Given the description of an element on the screen output the (x, y) to click on. 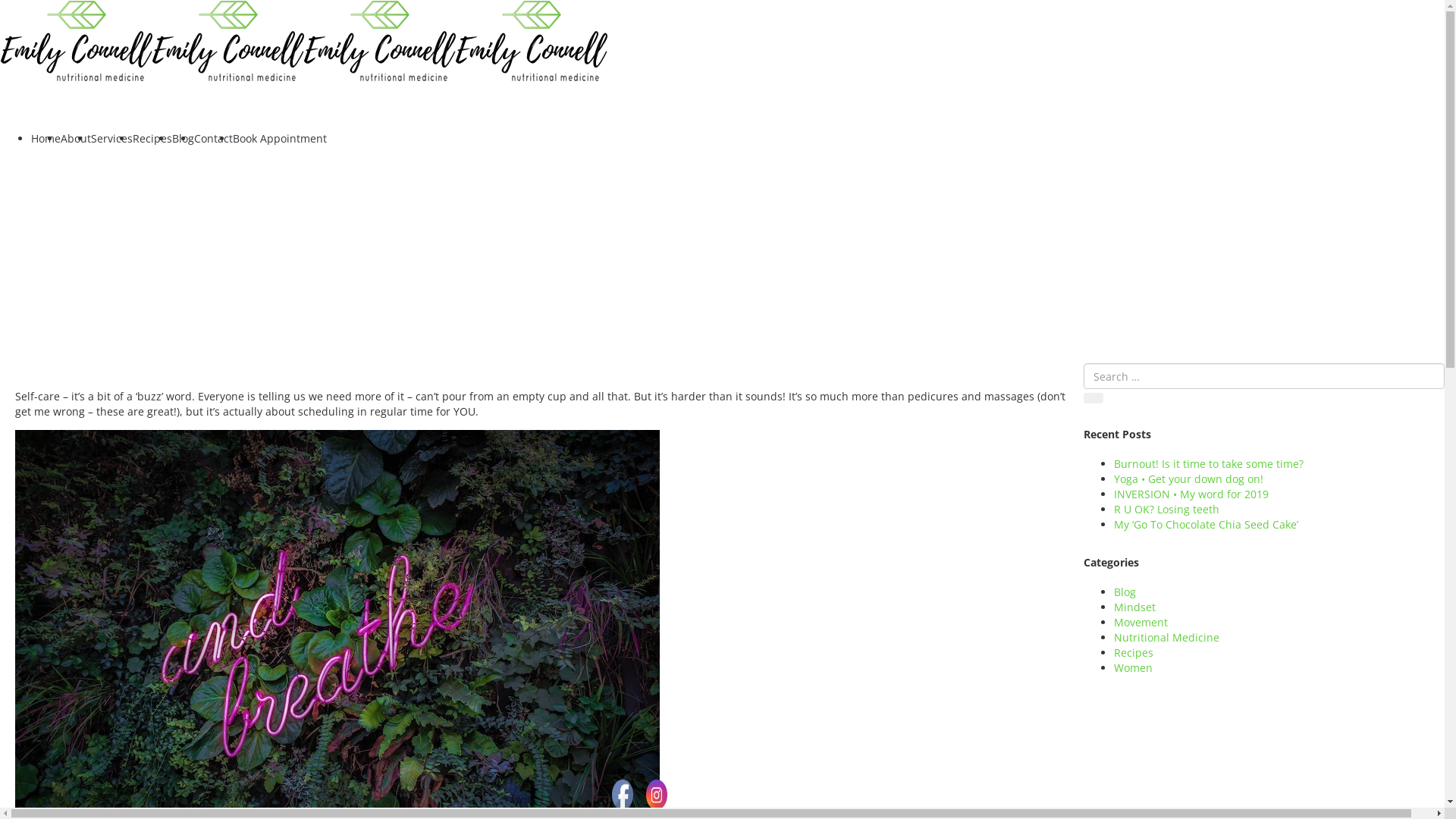
Burnout! Is it time to take some time? Element type: text (1208, 463)
Instagram Element type: hover (656, 794)
Women Element type: text (1132, 667)
Book Appointment Element type: text (279, 137)
Mindset Element type: text (1134, 606)
Blog Element type: text (183, 137)
Services Element type: text (111, 137)
R U OK? Losing teeth Element type: text (1166, 509)
Recipes Element type: text (152, 137)
Facebook Element type: hover (622, 794)
Nutritional Medicine Element type: text (1166, 637)
About Element type: text (75, 137)
Contact Element type: text (213, 137)
Blog Element type: text (1124, 591)
Movement Element type: text (1140, 622)
Home Element type: text (45, 137)
Recipes Element type: text (1133, 652)
